Given the description of an element on the screen output the (x, y) to click on. 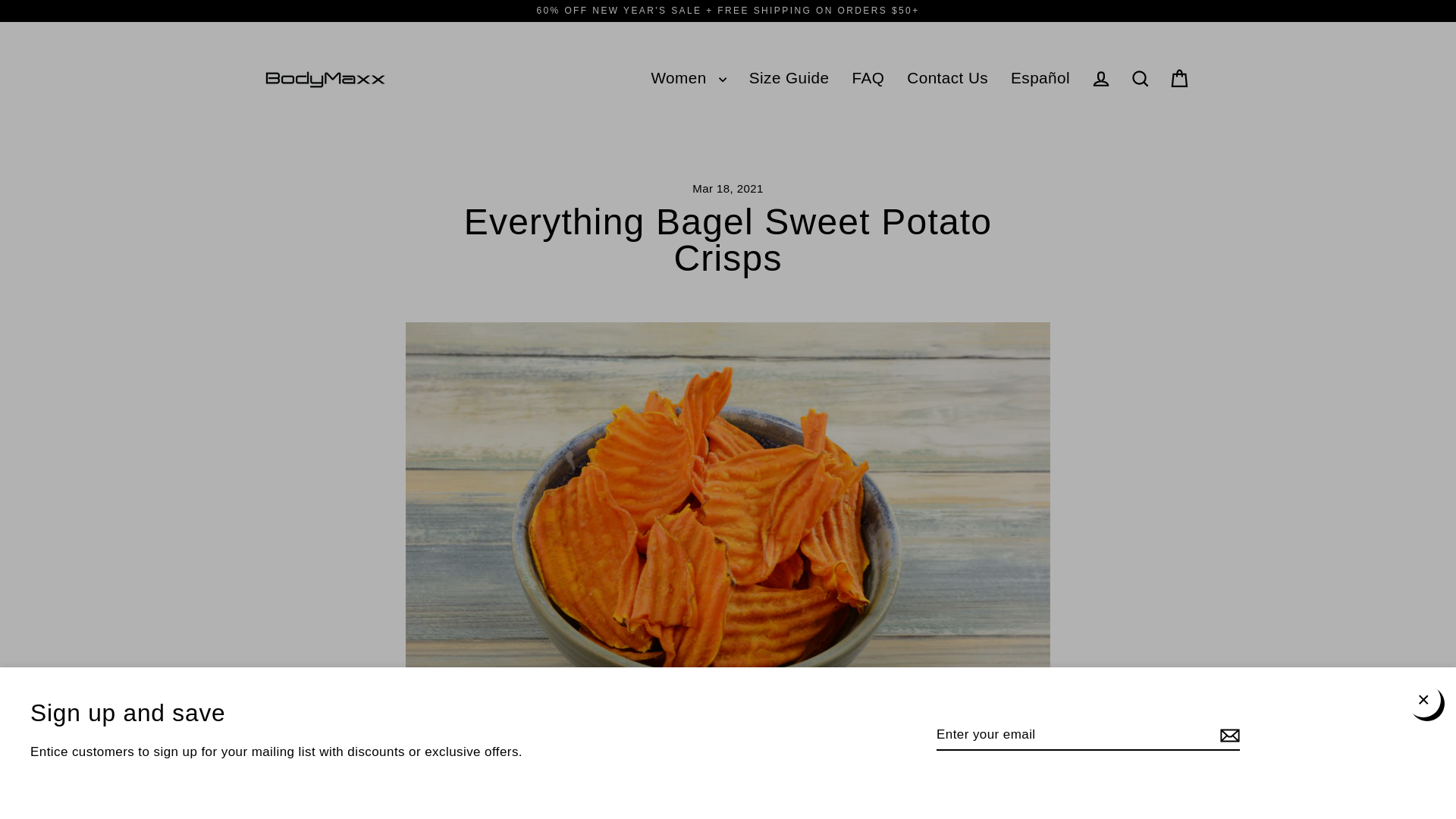
Log in (1101, 78)
Search (1140, 78)
FAQ (868, 79)
icon-X (1422, 700)
Cart (1179, 78)
Size Guide (789, 79)
Contact Us (946, 79)
